Given the description of an element on the screen output the (x, y) to click on. 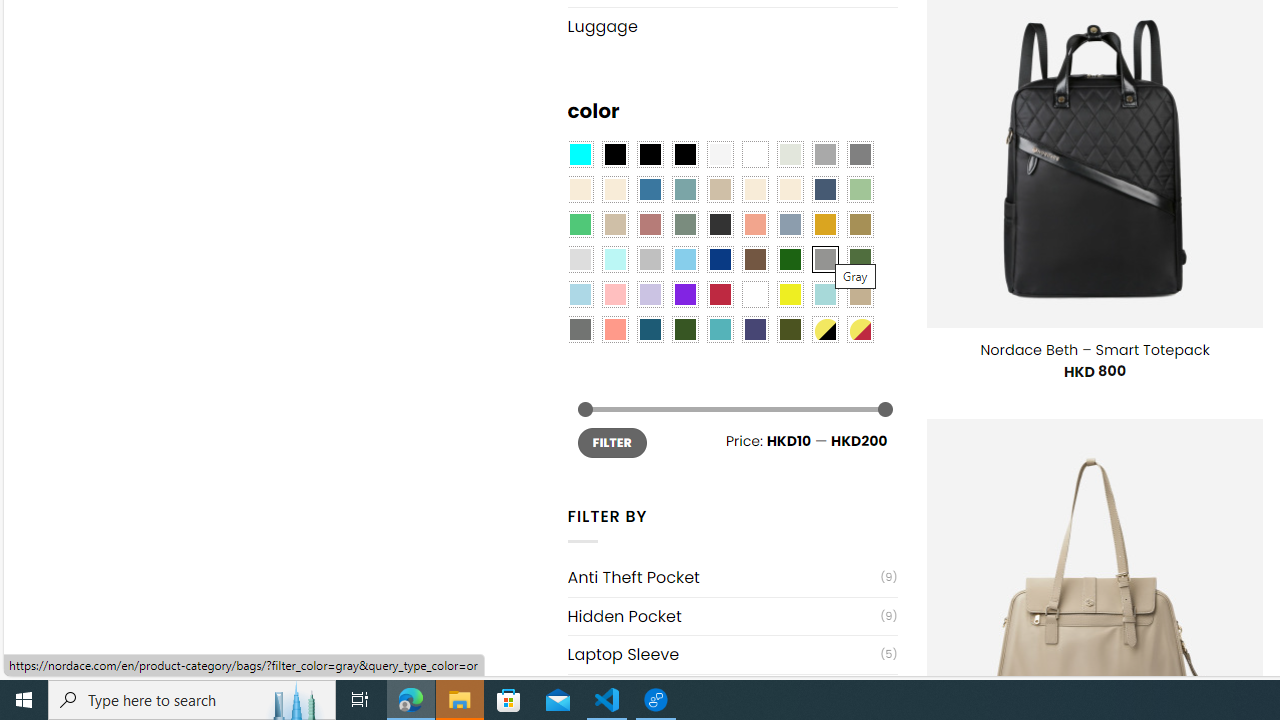
Peach Pink (614, 329)
Caramel (755, 190)
Dusty Blue (789, 224)
Red (719, 295)
Dull Nickle (579, 329)
Aqua Blue (579, 154)
Hidden Pocket(9) (732, 615)
Hidden Pocket (723, 615)
Gray (824, 259)
Gold (824, 224)
Light Purple (650, 295)
Purple (684, 295)
Cream (789, 190)
Luggage (732, 26)
Clear (755, 154)
